Given the description of an element on the screen output the (x, y) to click on. 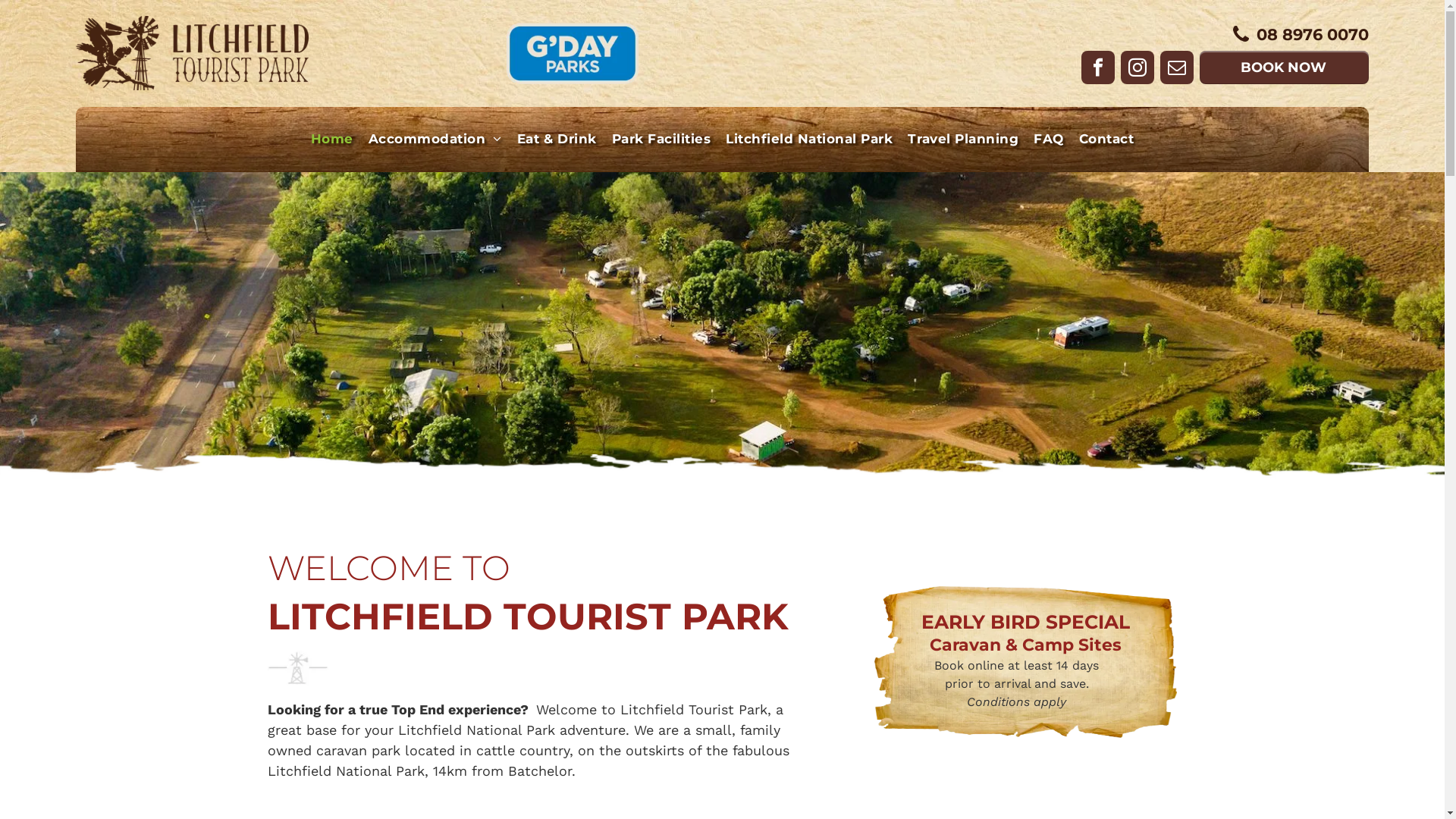
Travel Planning Element type: text (963, 139)
FAQ Element type: text (1048, 139)
Eat & Drink Element type: text (556, 139)
Contact Element type: text (1106, 139)
Park Facilities Element type: text (661, 139)
Accommodation Element type: text (434, 139)
Home Element type: text (331, 139)
BOOK NOW Element type: text (1283, 67)
Litchfield National Park Element type: text (809, 139)
